Given the description of an element on the screen output the (x, y) to click on. 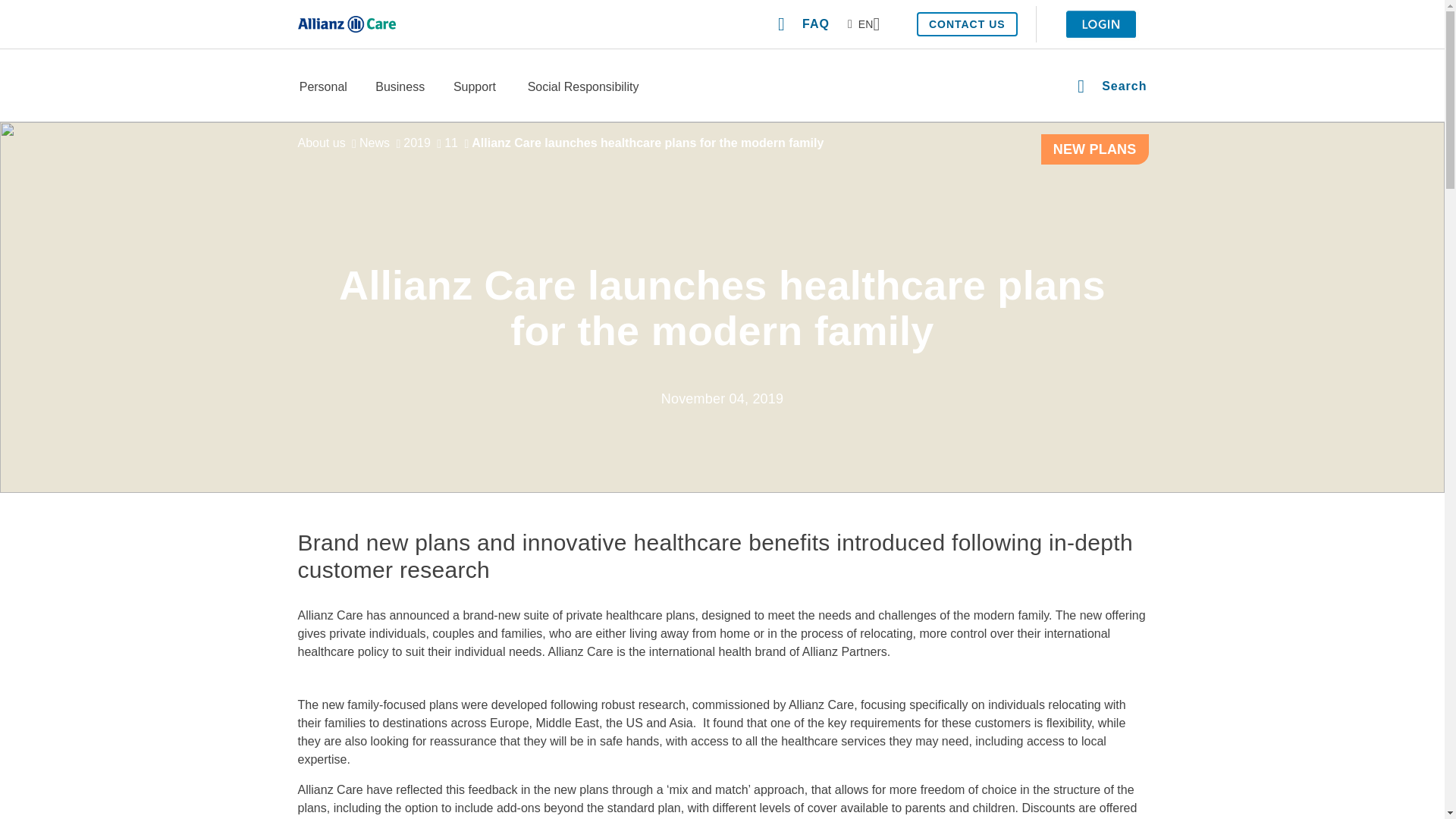
EN (863, 24)
CONTACT US (967, 24)
FAQ (803, 24)
Personal (323, 88)
Business (399, 88)
